Given the description of an element on the screen output the (x, y) to click on. 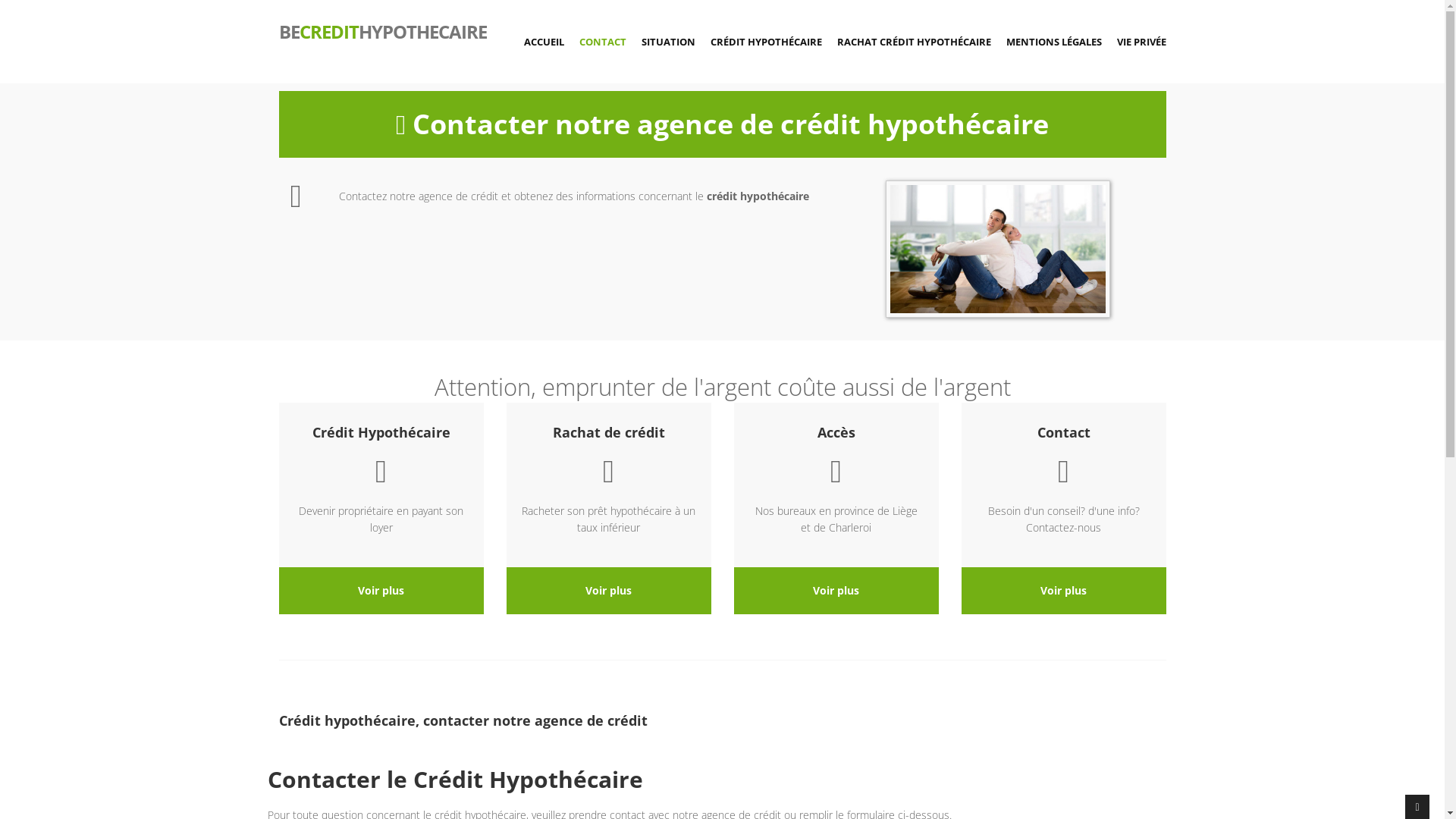
Voir plus Element type: text (380, 590)
Voir plus Element type: text (608, 590)
SITUATION Element type: text (668, 41)
BECREDITHYPOTHECAIRE Element type: text (376, 29)
Voir plus Element type: text (1063, 590)
ACCUEIL Element type: text (543, 41)
CONTACT Element type: text (602, 41)
Voir plus Element type: text (835, 590)
